Given the description of an element on the screen output the (x, y) to click on. 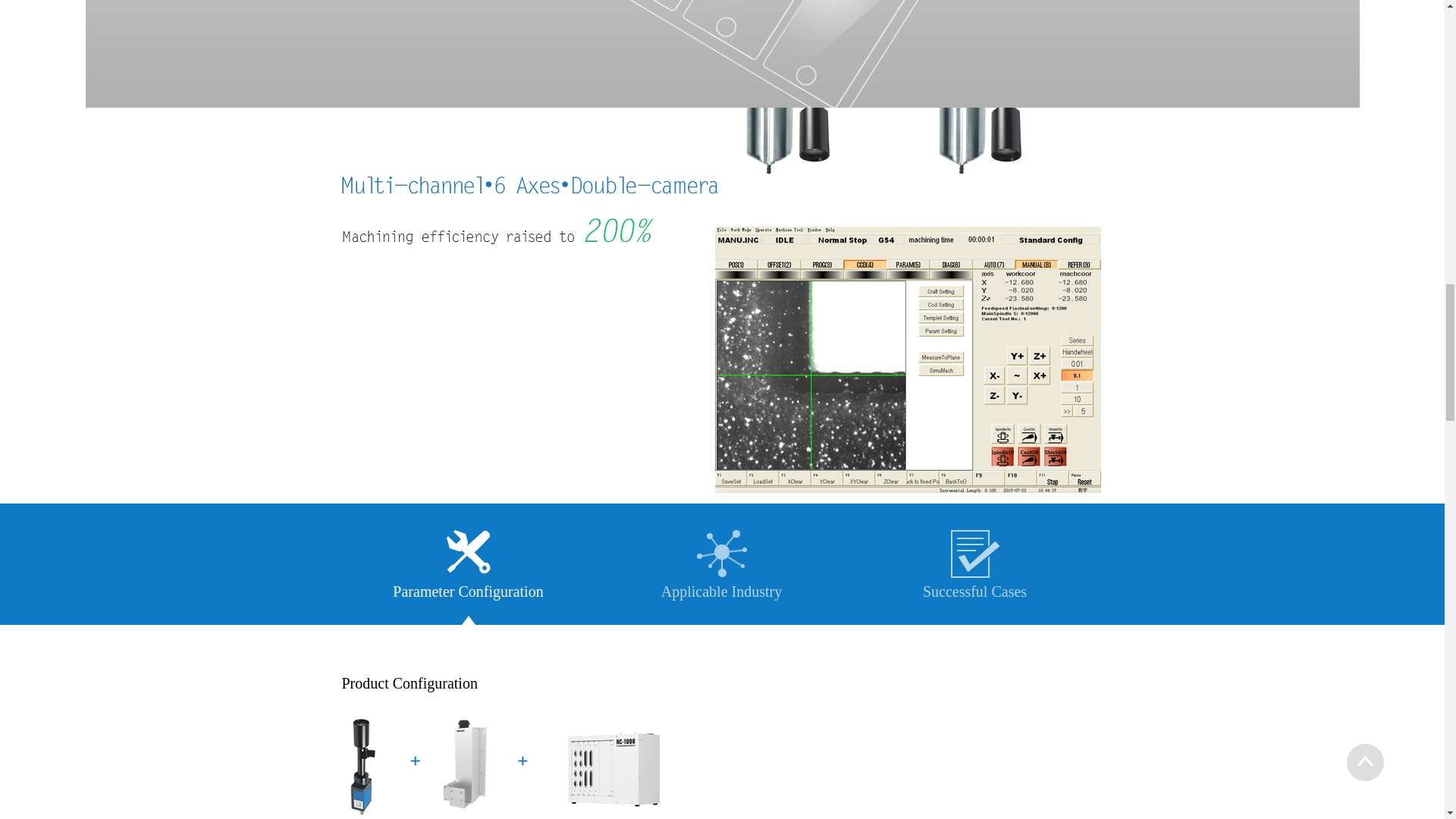
Applicable Industry (720, 564)
Parameter Configuration (467, 564)
Successful Cases (973, 564)
